Given the description of an element on the screen output the (x, y) to click on. 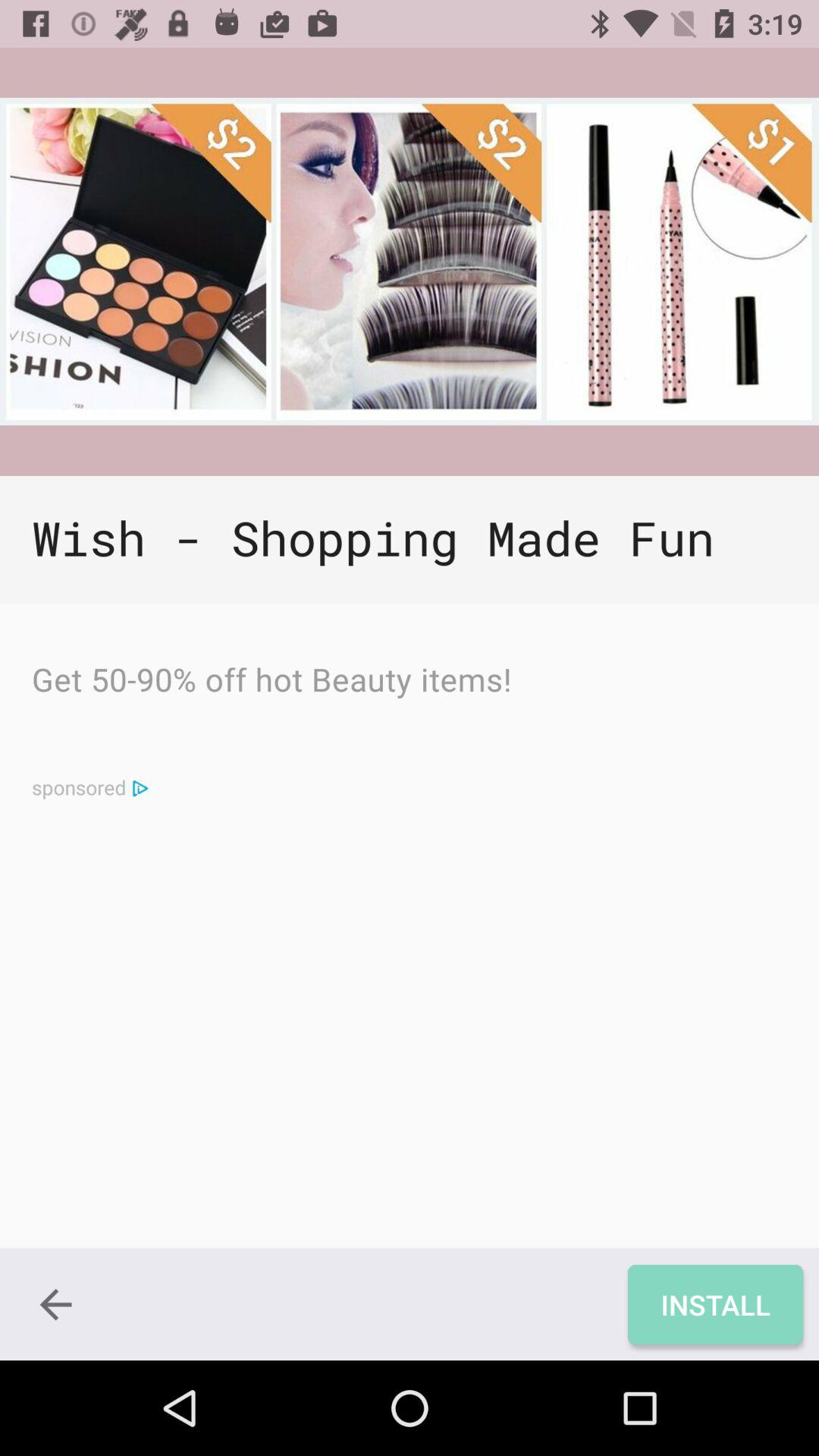
click the get 50 90 item (271, 683)
